Given the description of an element on the screen output the (x, y) to click on. 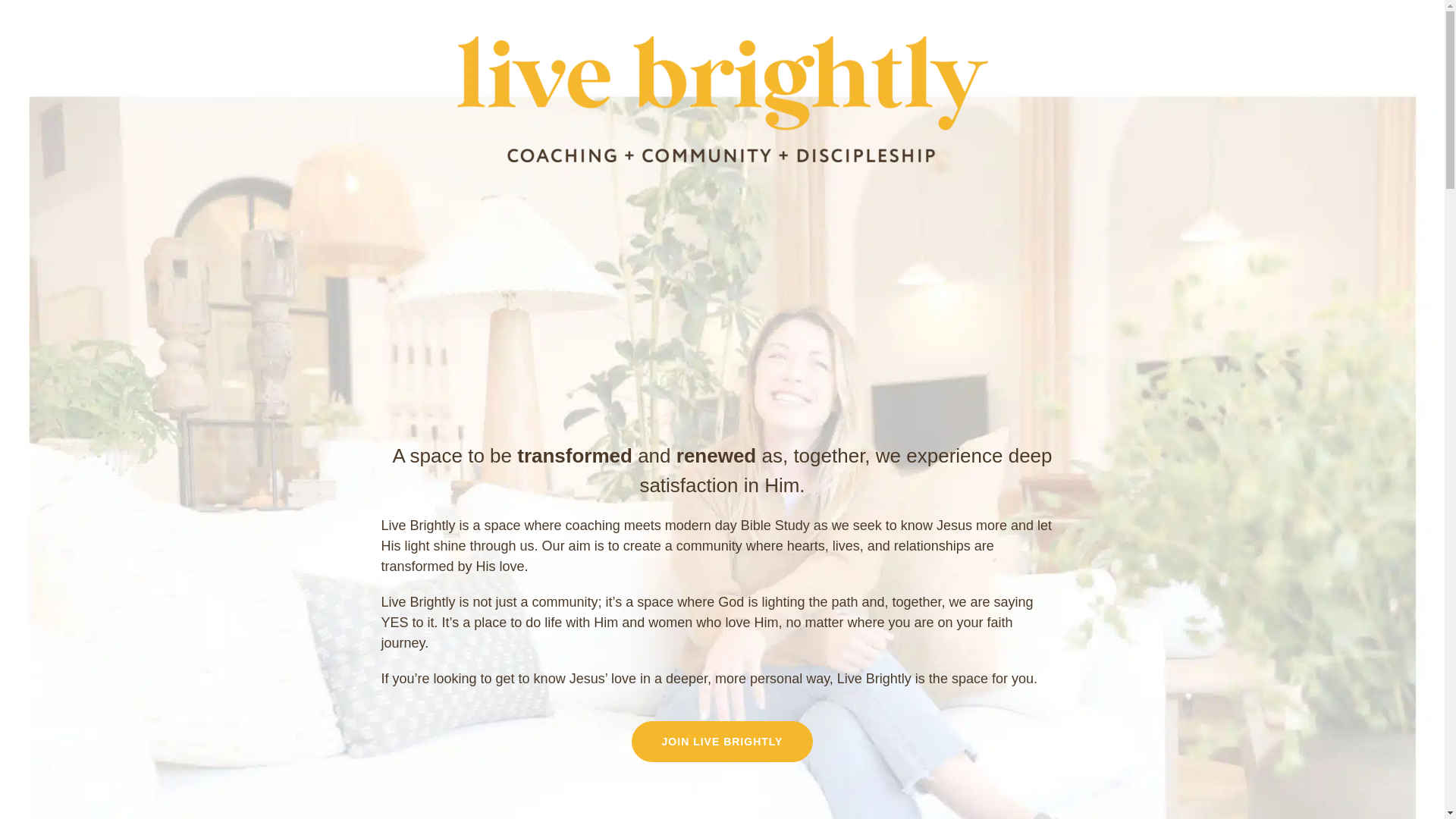
JOIN LIVE BRIGHTLY (722, 741)
